Given the description of an element on the screen output the (x, y) to click on. 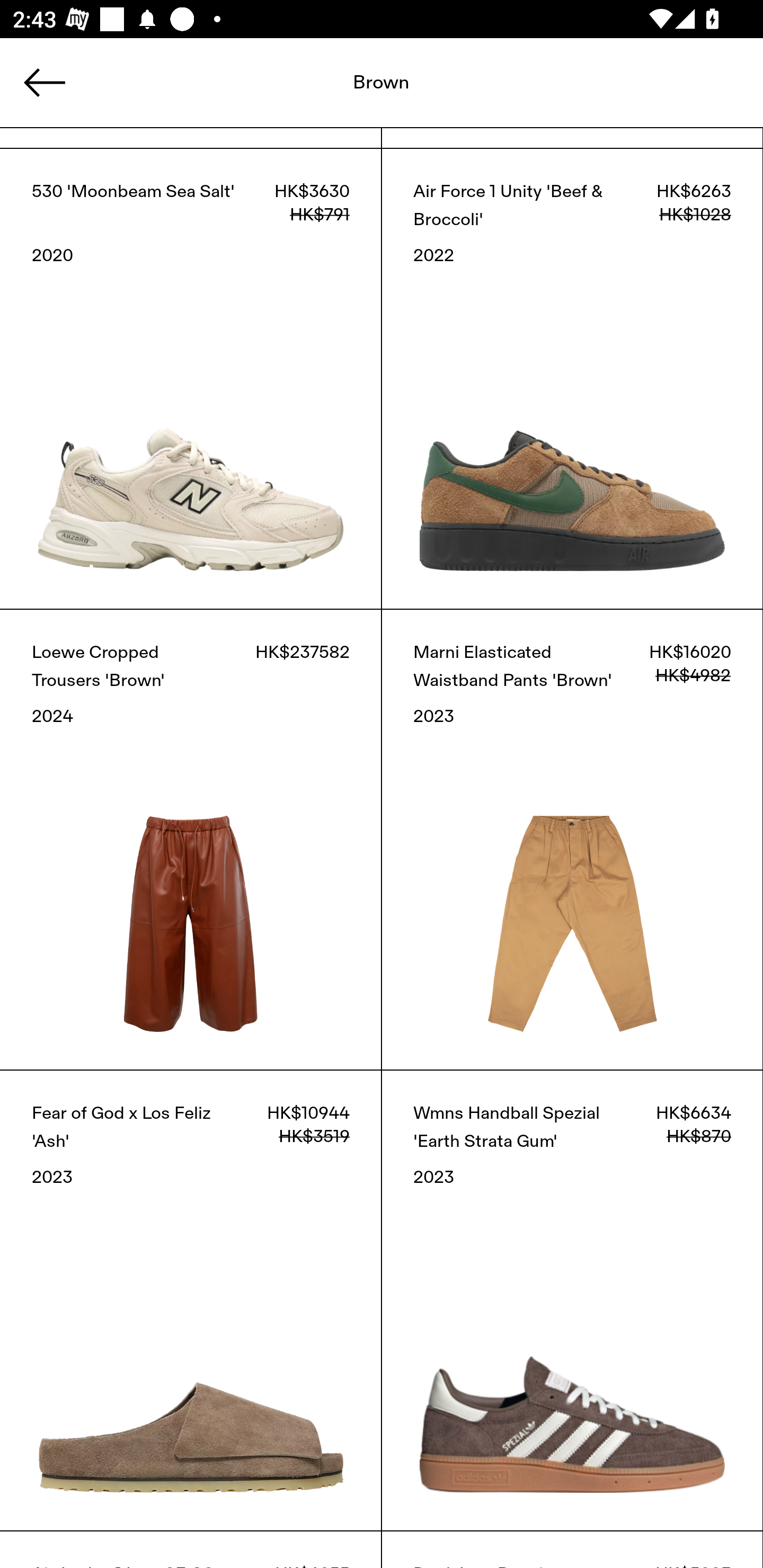
530 'Moonbeam Sea Salt' HK$3630 HK$791 2020 (190, 378)
Loewe Cropped Trousers 'Brown' HK$237582 2024 (190, 839)
